Given the description of an element on the screen output the (x, y) to click on. 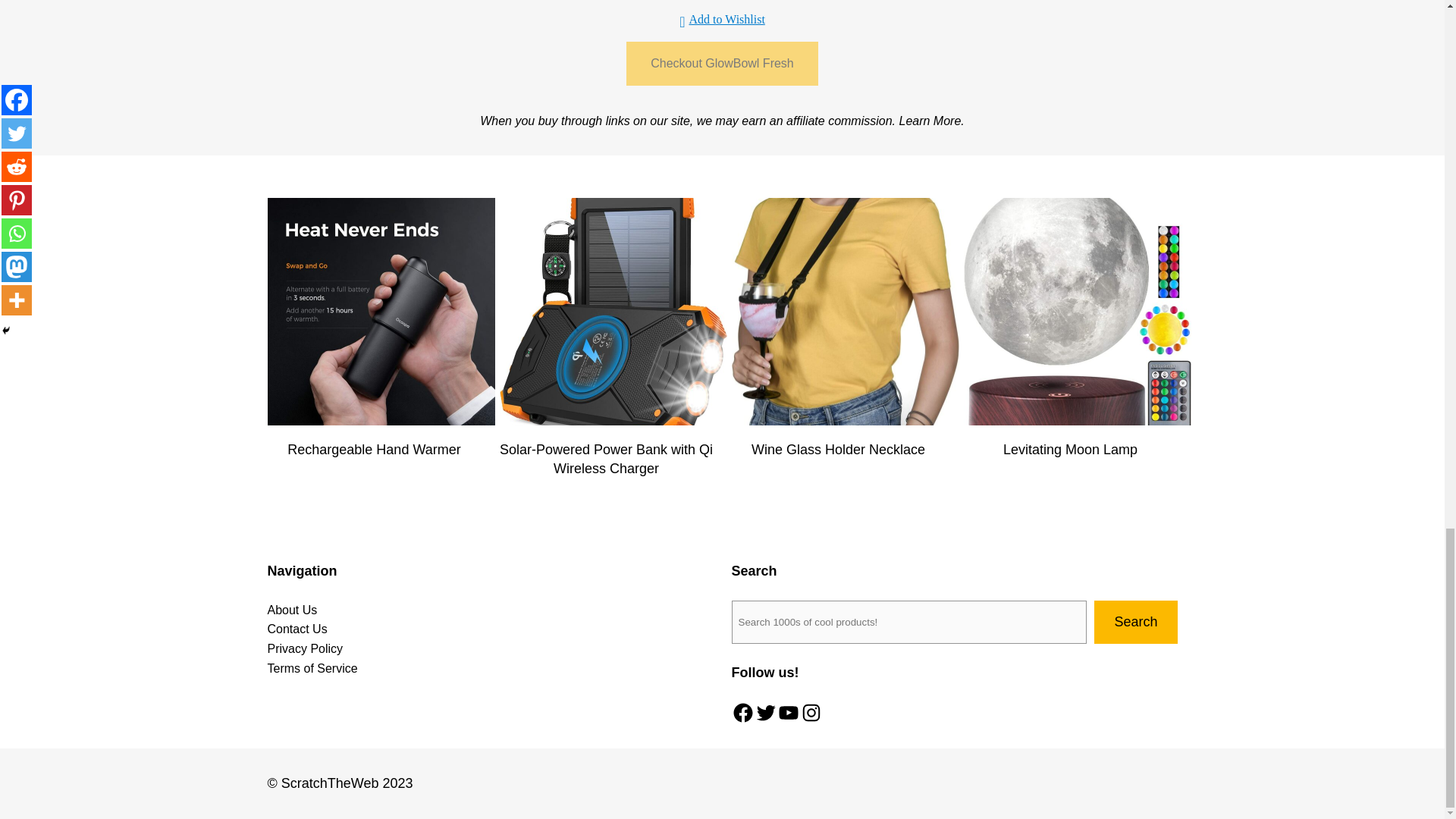
Terms of Service (311, 668)
Wine Glass Holder Necklace (837, 449)
About Us (291, 609)
Solar-Powered Power Bank with Qi Wireless Charger (606, 459)
Privacy Policy (304, 649)
Checkout GlowBowl Fresh (722, 63)
Twitter (765, 712)
Add to Wishlist (722, 19)
Learn More (929, 120)
Levitating Moon Lamp (1070, 449)
Contact Us (296, 629)
Instagram (810, 712)
Facebook (742, 712)
Search (1135, 621)
YouTube (787, 712)
